Given the description of an element on the screen output the (x, y) to click on. 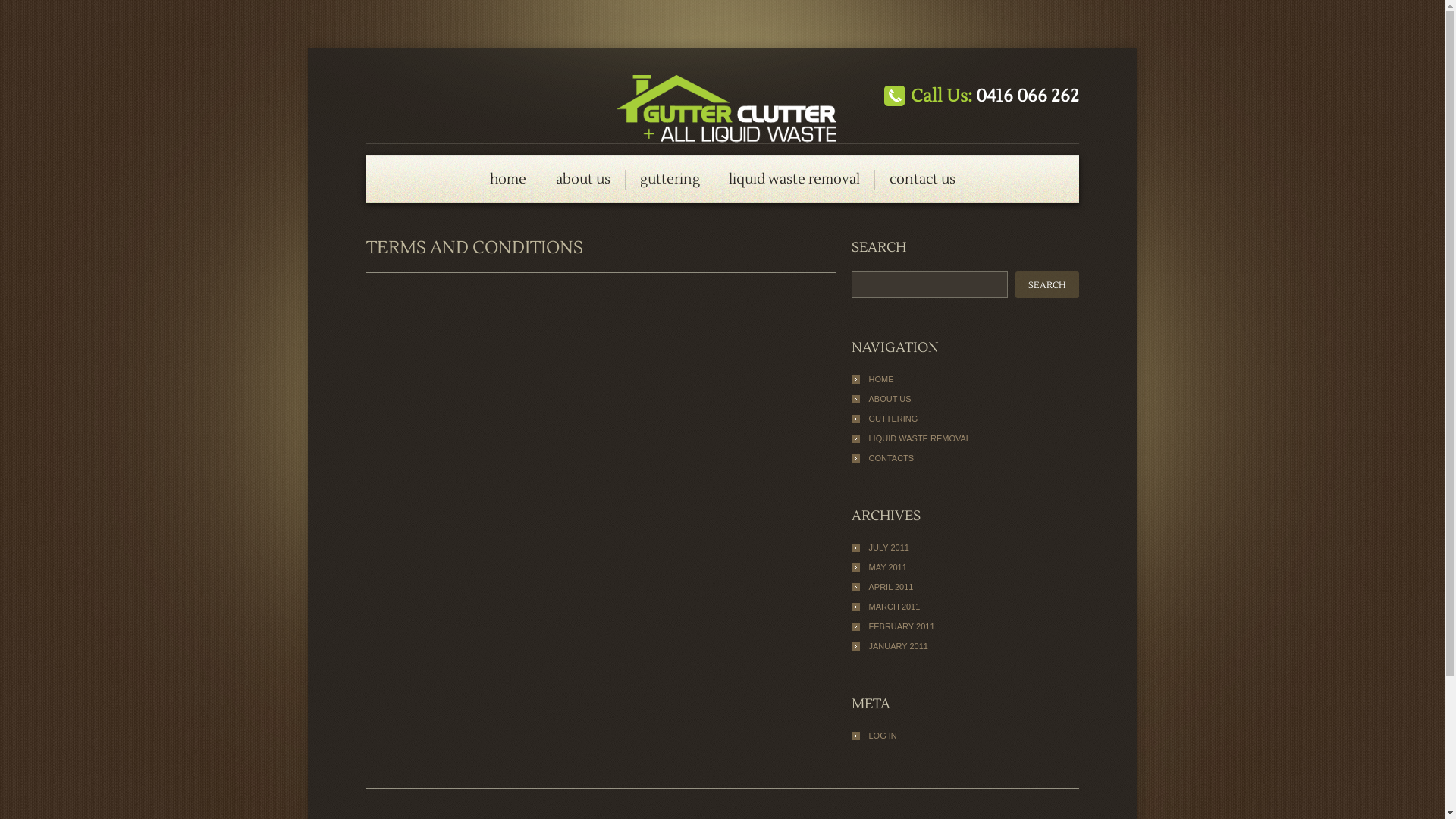
MAY 2011 Element type: text (887, 566)
home Element type: text (507, 179)
guttering Element type: text (669, 179)
Search Element type: text (1046, 284)
ABOUT US Element type: text (890, 398)
liquid waste removal Element type: text (794, 179)
APRIL 2011 Element type: text (891, 586)
contact us Element type: text (922, 179)
GUTTERING Element type: text (893, 418)
JANUARY 2011 Element type: text (898, 645)
about us Element type: text (582, 179)
LOG IN Element type: text (883, 735)
JULY 2011 Element type: text (889, 547)
HOME Element type: text (881, 378)
FEBRUARY 2011 Element type: text (902, 625)
CONTACTS Element type: text (891, 457)
MARCH 2011 Element type: text (894, 606)
LIQUID WASTE REMOVAL Element type: text (919, 437)
